Given the description of an element on the screen output the (x, y) to click on. 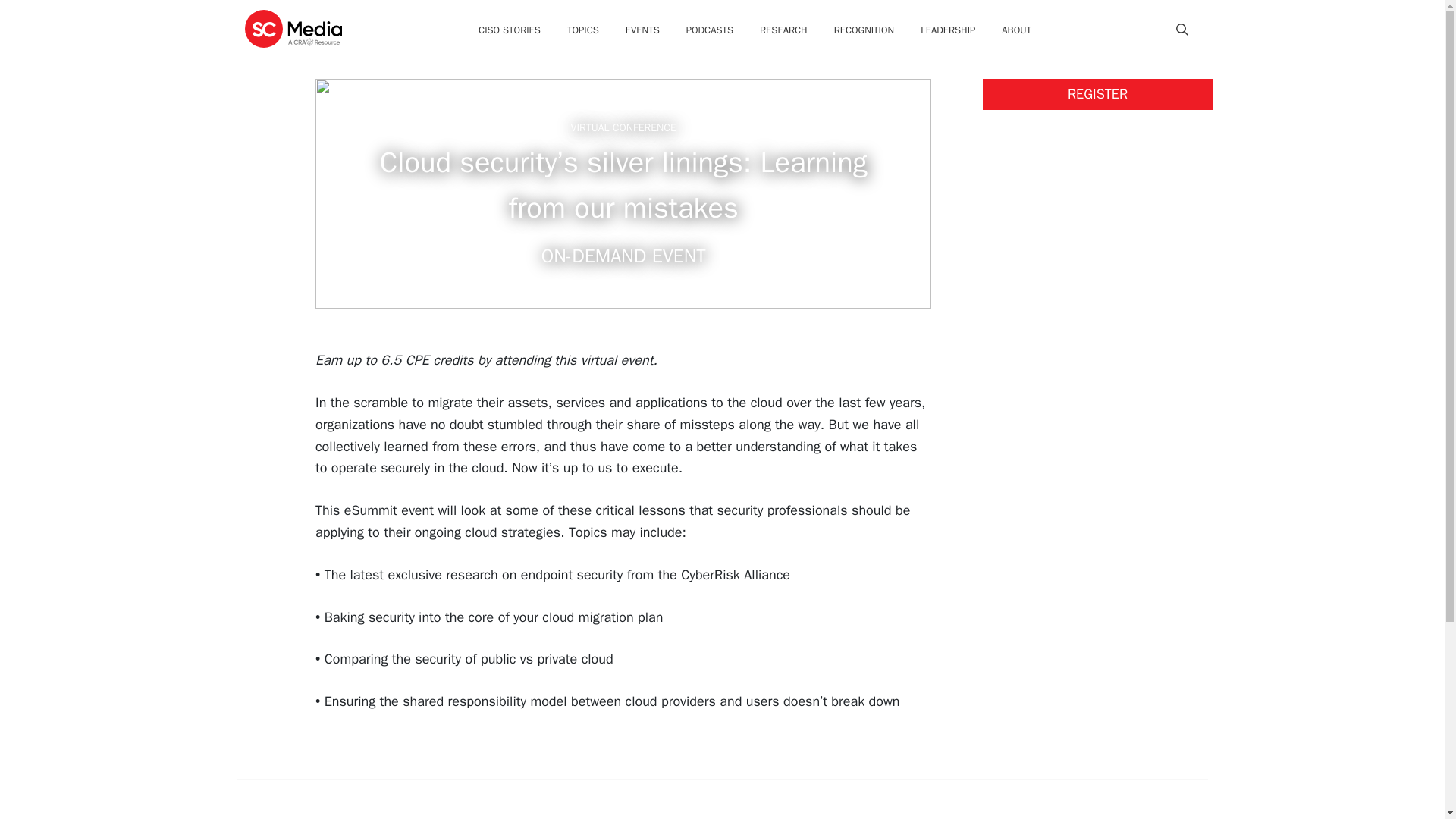
RESEARCH (784, 30)
SC Media (292, 27)
CISO STORIES (509, 30)
TOPICS (582, 30)
EVENTS (642, 30)
REGISTER (1097, 93)
PODCASTS (709, 30)
RECOGNITION (863, 30)
LEADERSHIP (947, 30)
ABOUT (1015, 30)
